Given the description of an element on the screen output the (x, y) to click on. 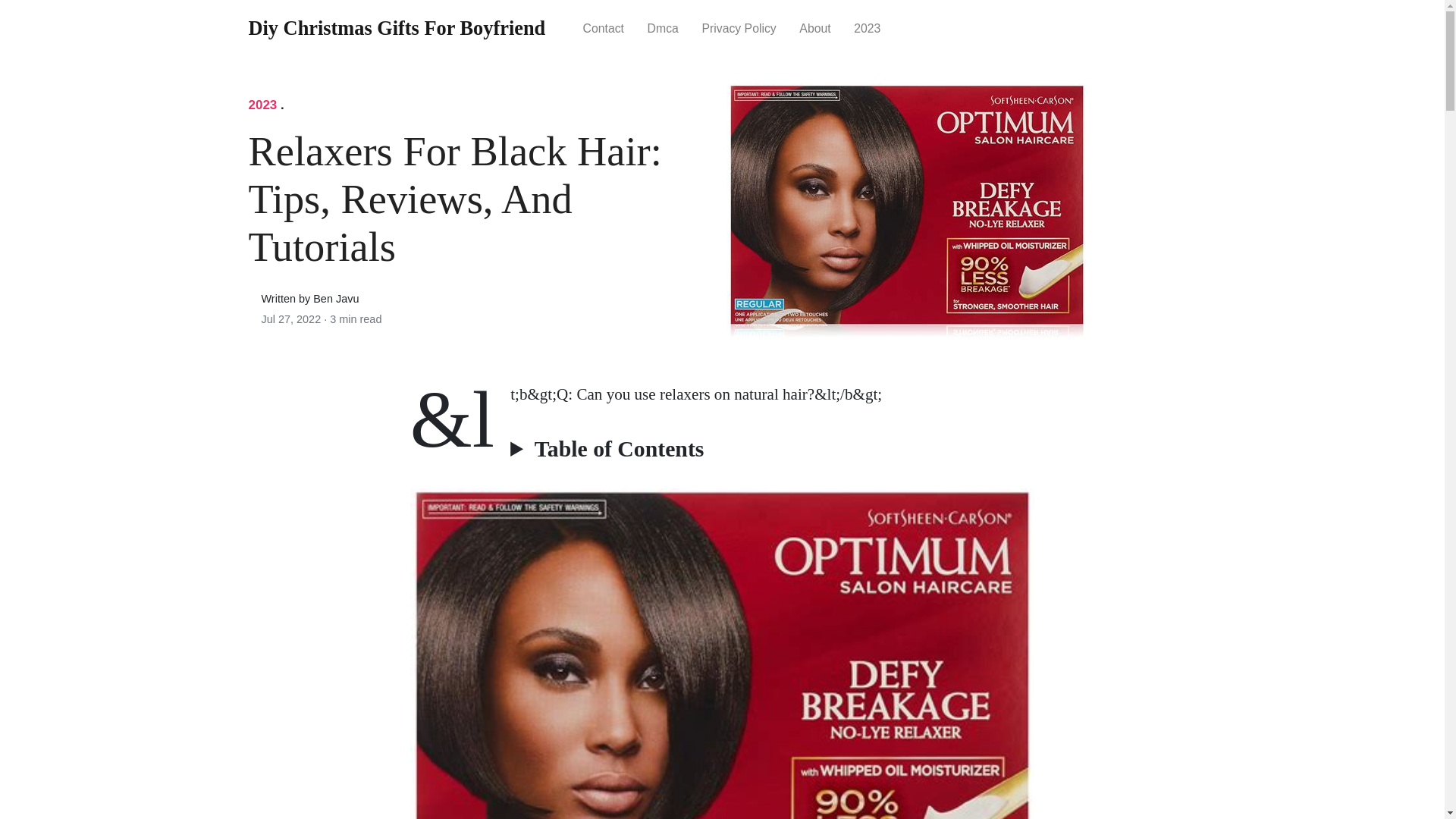
2023 (867, 27)
2023 (867, 27)
Contact (602, 27)
2023 (263, 104)
About (815, 27)
Privacy Policy (738, 27)
Dmca (662, 27)
2023 (263, 104)
Diy Christmas Gifts For Boyfriend (397, 28)
